Given the description of an element on the screen output the (x, y) to click on. 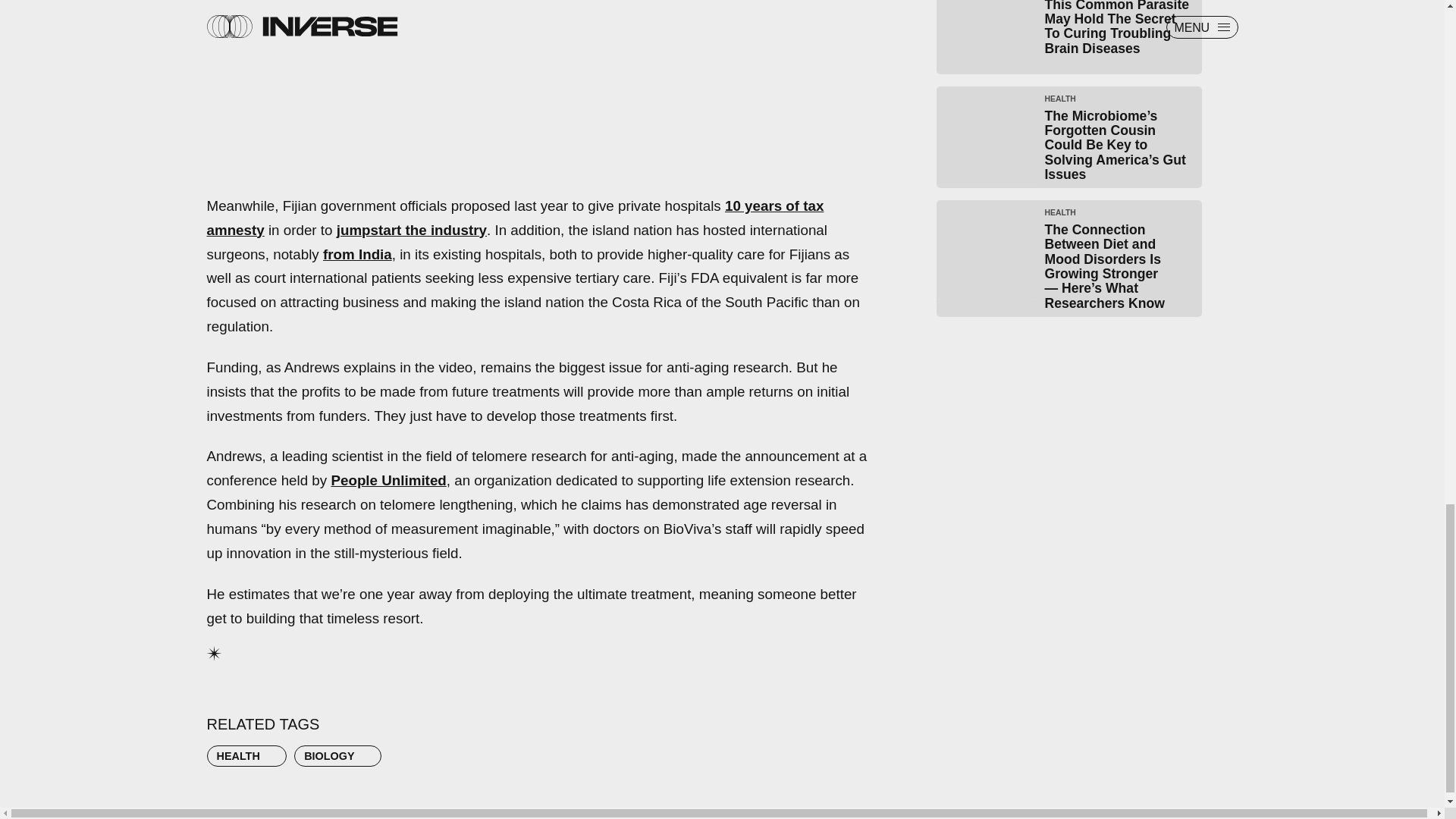
BIOLOGY (337, 755)
10 years of tax amnesty (515, 218)
People Unlimited (387, 480)
HEALTH (246, 755)
from India (357, 254)
jumpstart the industry (411, 229)
